Given the description of an element on the screen output the (x, y) to click on. 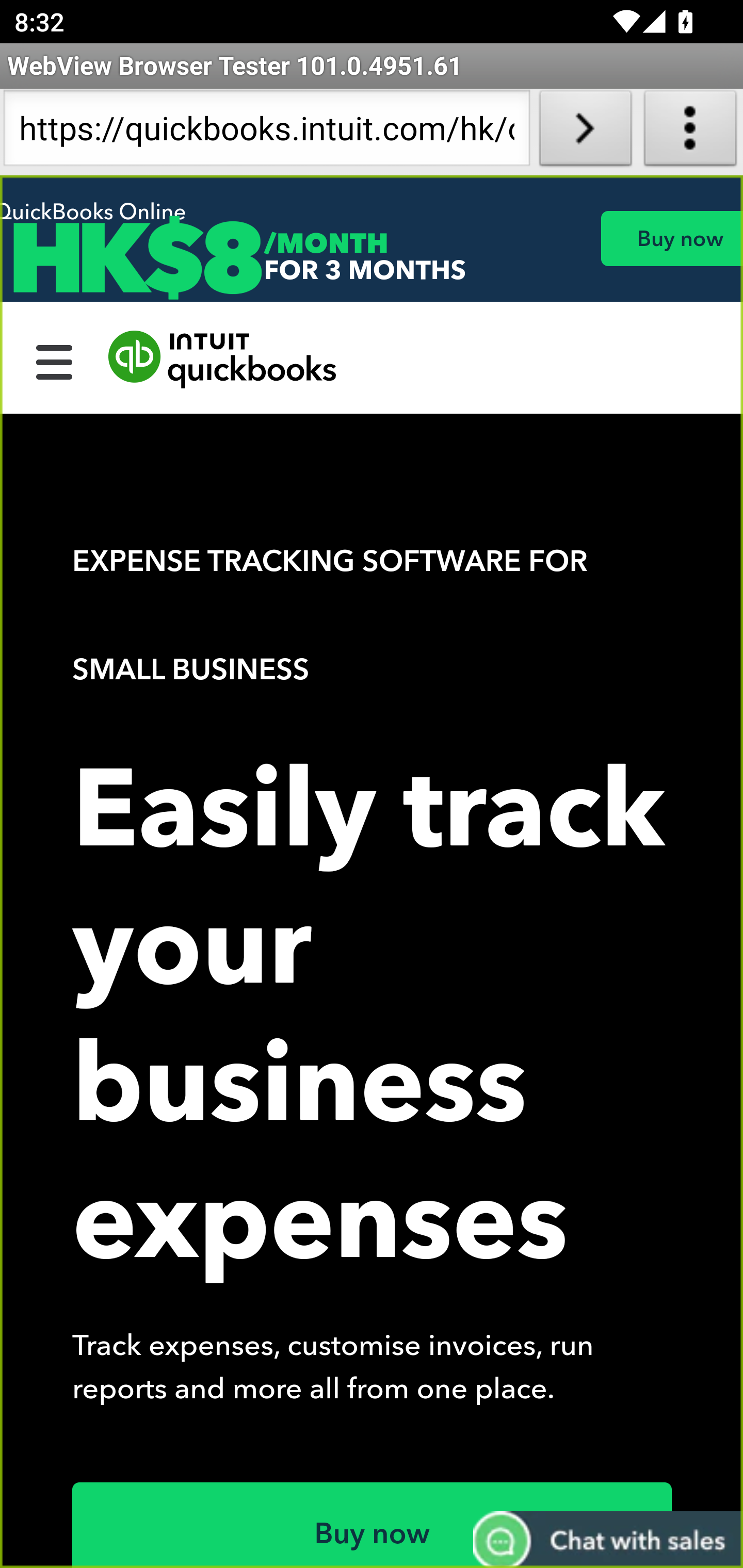
Load URL (585, 132)
About WebView (690, 132)
Buy now (671, 238)
quickbooks-mobile-burger (54, 359)
quickbooks (222, 359)
Buy now (372, 1524)
